Given the description of an element on the screen output the (x, y) to click on. 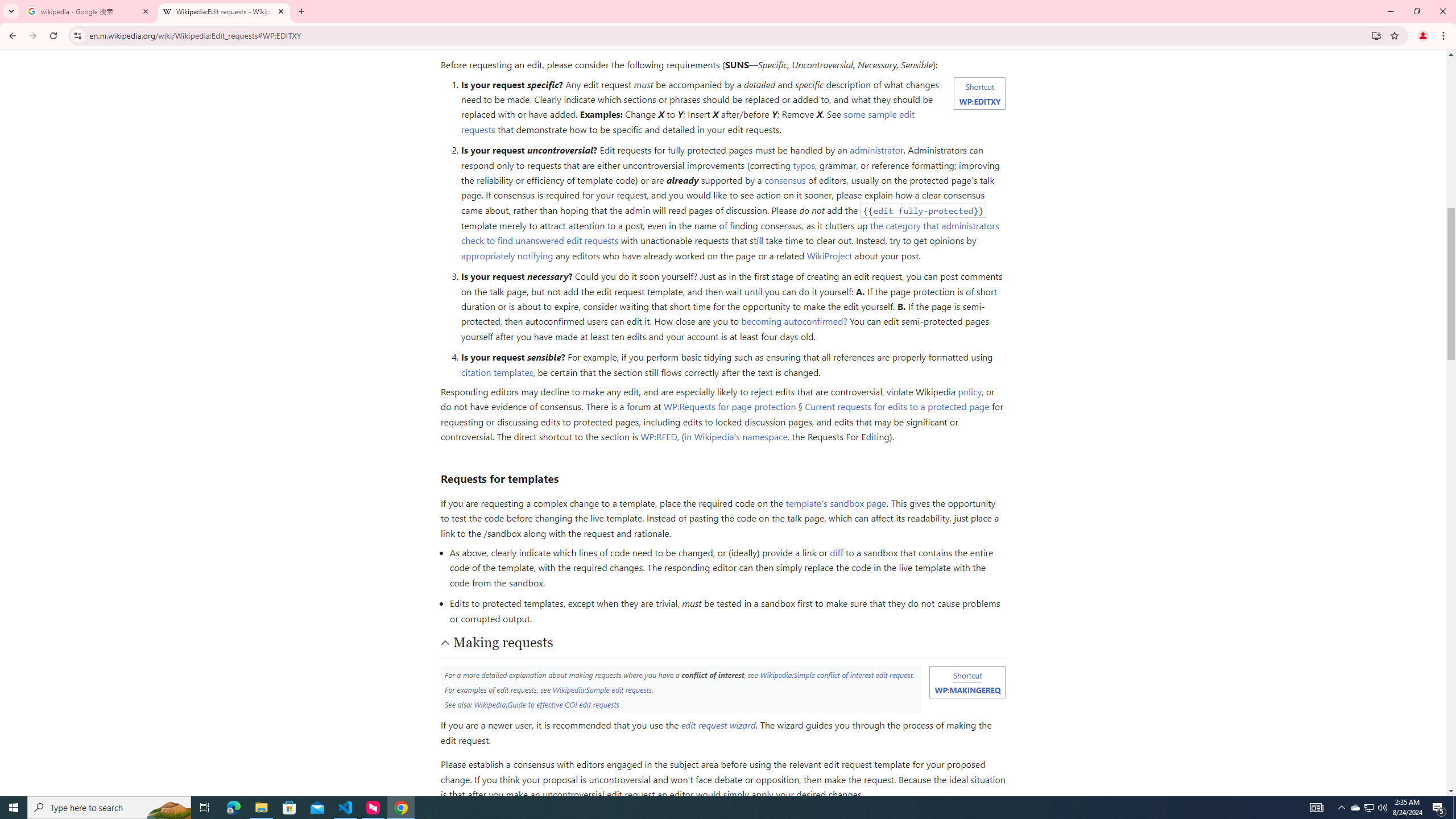
WP:EDITXY (979, 100)
Shortcut (967, 674)
WikiProject (829, 254)
Wikipedia:Simple conflict of interest edit request (836, 674)
Wikipedia:Sample edit requests (601, 688)
Install Wikipedia (1376, 35)
Wikipedia:Guide to effective COI edit requests (545, 703)
administrator (877, 150)
becoming autoconfirmed (792, 321)
policy (969, 390)
